Given the description of an element on the screen output the (x, y) to click on. 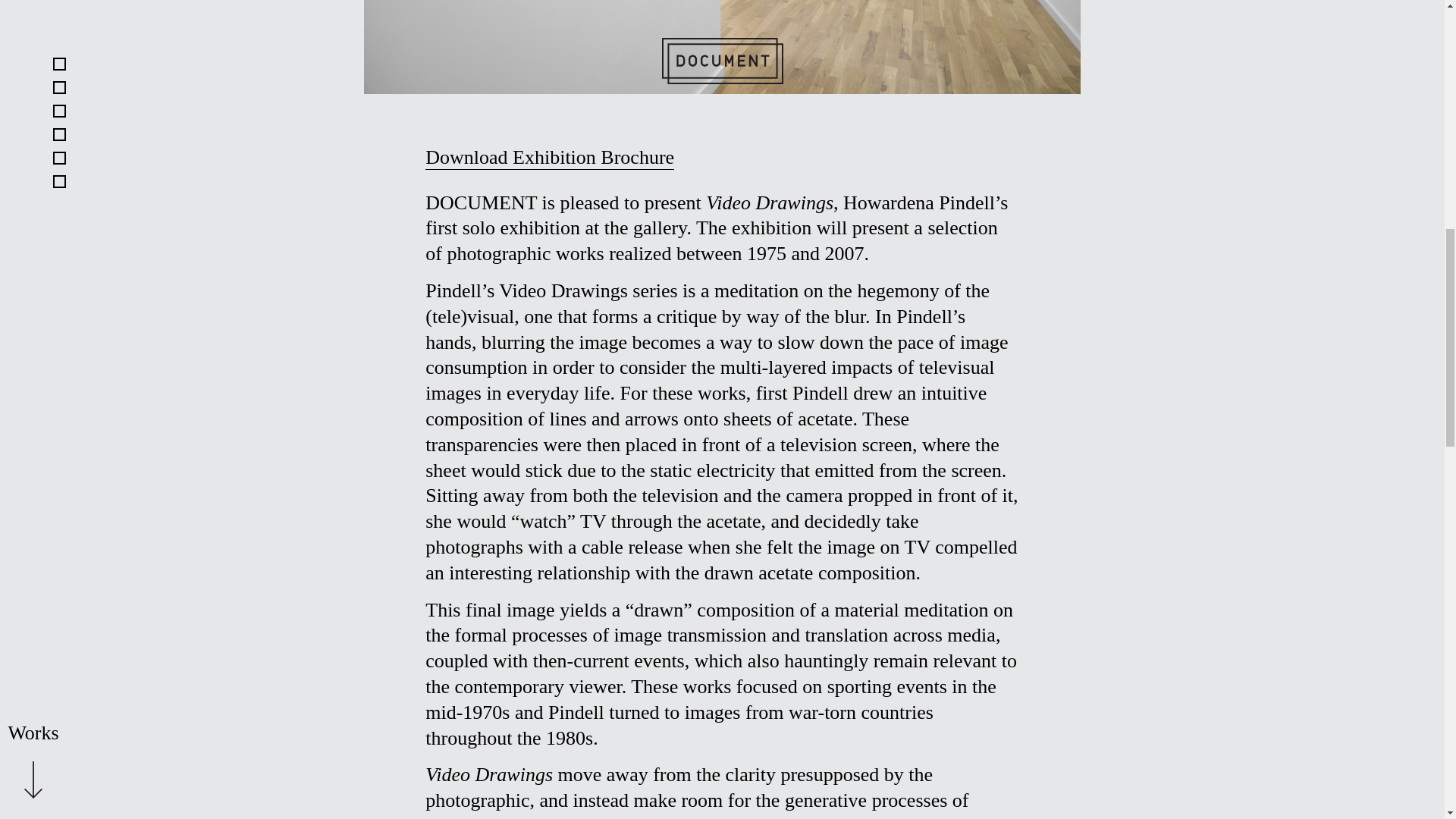
Download Exhibition Brochure (549, 157)
